Given the description of an element on the screen output the (x, y) to click on. 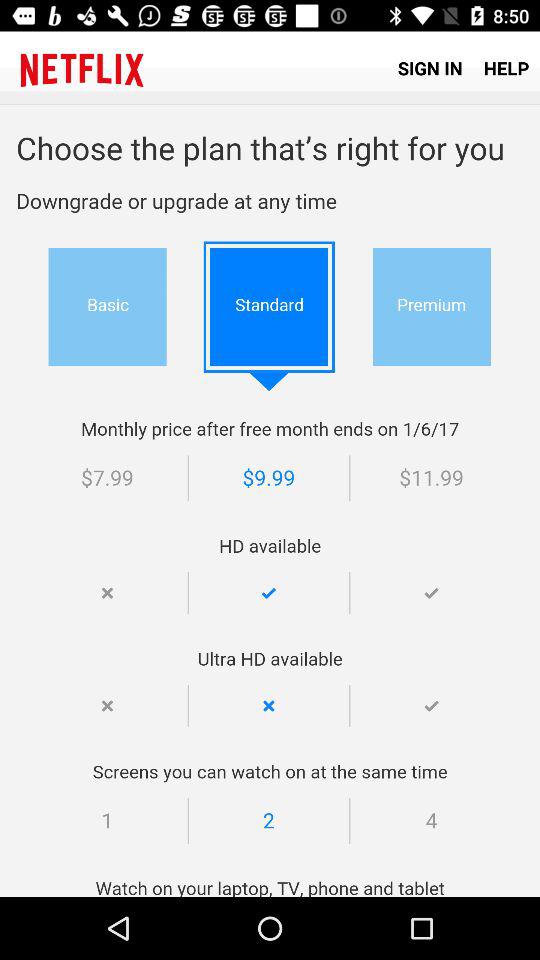
choose plan (270, 501)
